Given the description of an element on the screen output the (x, y) to click on. 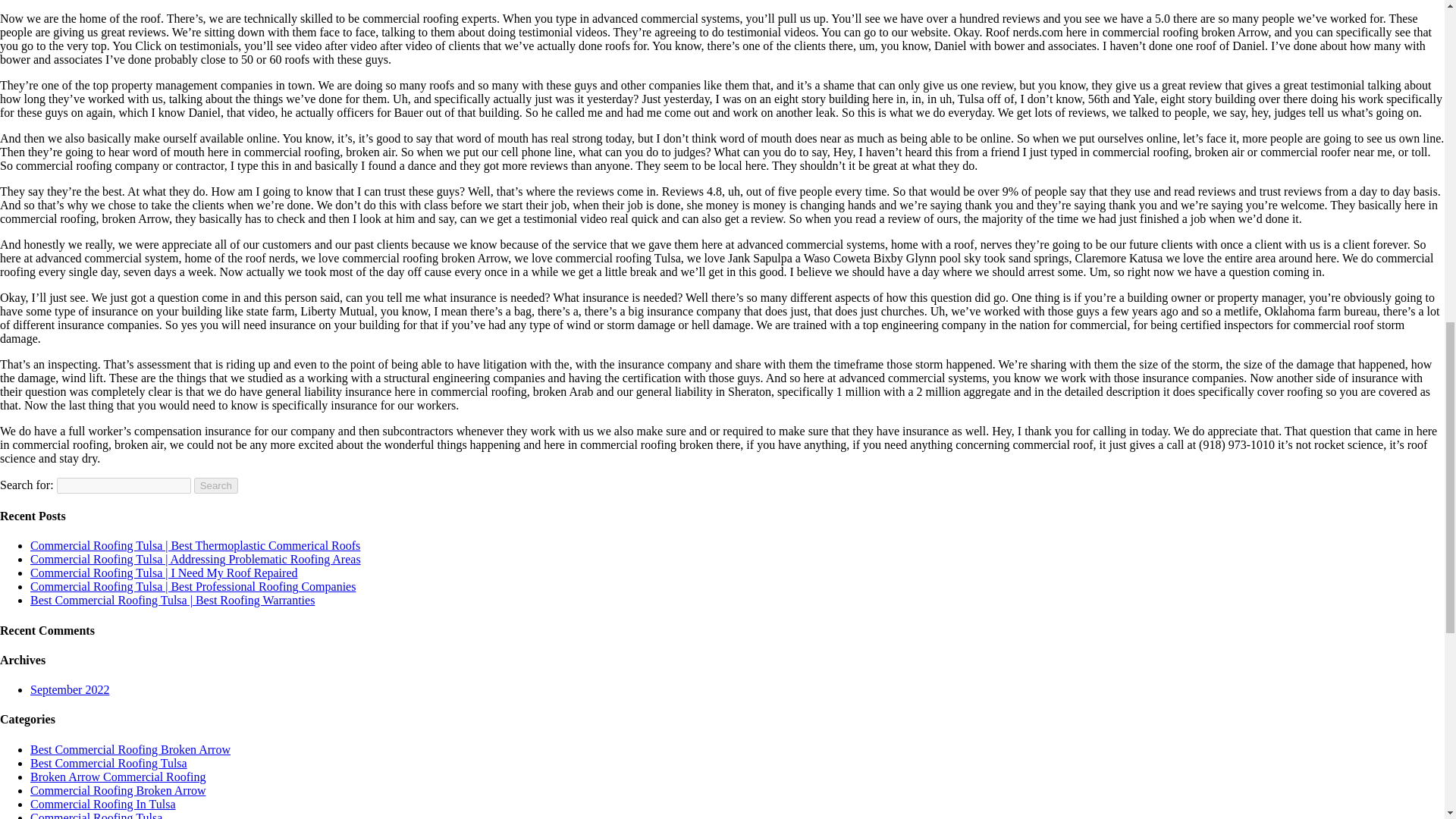
Search (215, 485)
Broken Arrow Commercial Roofing (118, 776)
Best Commercial Roofing Broken Arrow (130, 748)
Search (215, 485)
Best Commercial Roofing Tulsa (108, 762)
Commercial Roofing In Tulsa (103, 803)
September 2022 (69, 689)
Commercial Roofing Tulsa (95, 815)
Commercial Roofing Broken Arrow (118, 789)
